Given the description of an element on the screen output the (x, y) to click on. 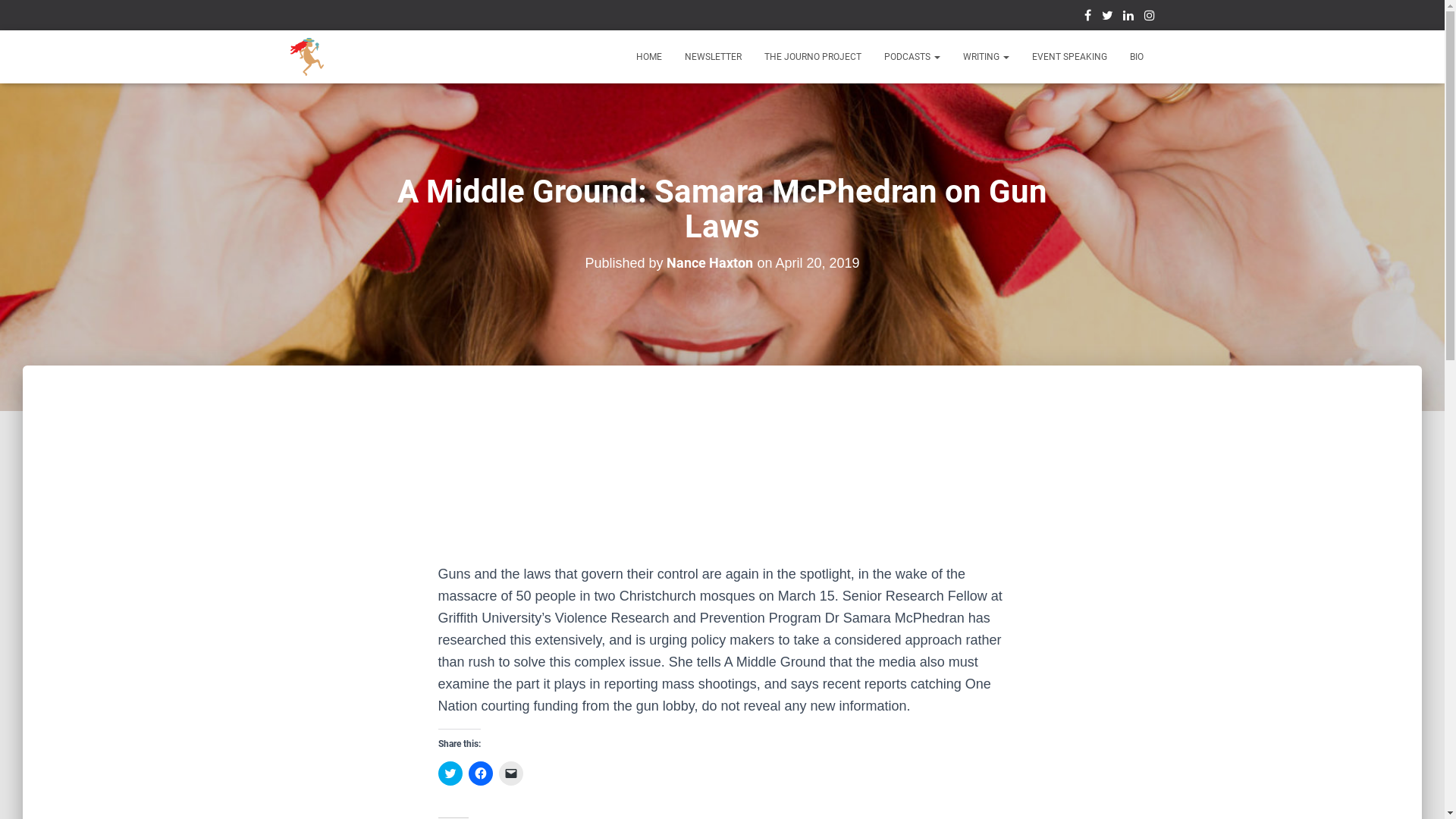
HOME Element type: text (648, 56)
WRITING Element type: text (984, 56)
Twitter Element type: text (1107, 17)
EVENT SPEAKING Element type: text (1069, 56)
The Wandering Journo Element type: hover (307, 56)
BIO Element type: text (1135, 56)
PODCASTS Element type: text (911, 56)
THE JOURNO PROJECT Element type: text (812, 56)
Click to email a link to a friend (Opens in new window) Element type: text (510, 773)
Nance Haxton Element type: text (709, 262)
Click to share on Twitter (Opens in new window) Element type: text (450, 773)
NEWSLETTER Element type: text (713, 56)
Click to share on Facebook (Opens in new window) Element type: text (480, 773)
Linkedin Element type: text (1128, 17)
Instagram Element type: text (1148, 17)
Facebook Element type: text (1087, 17)
